Given the description of an element on the screen output the (x, y) to click on. 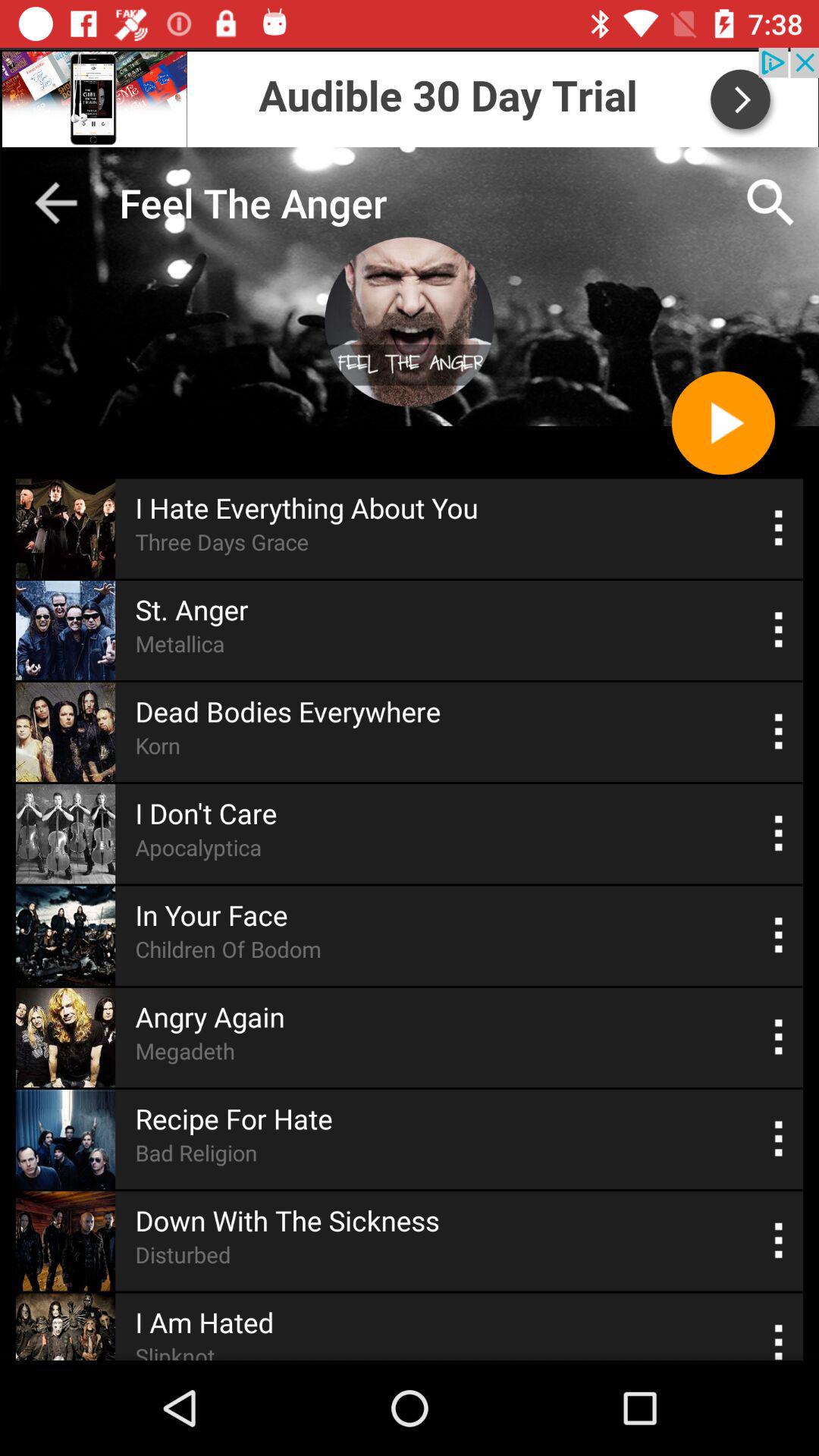
audible 30 day trial (409, 97)
